Given the description of an element on the screen output the (x, y) to click on. 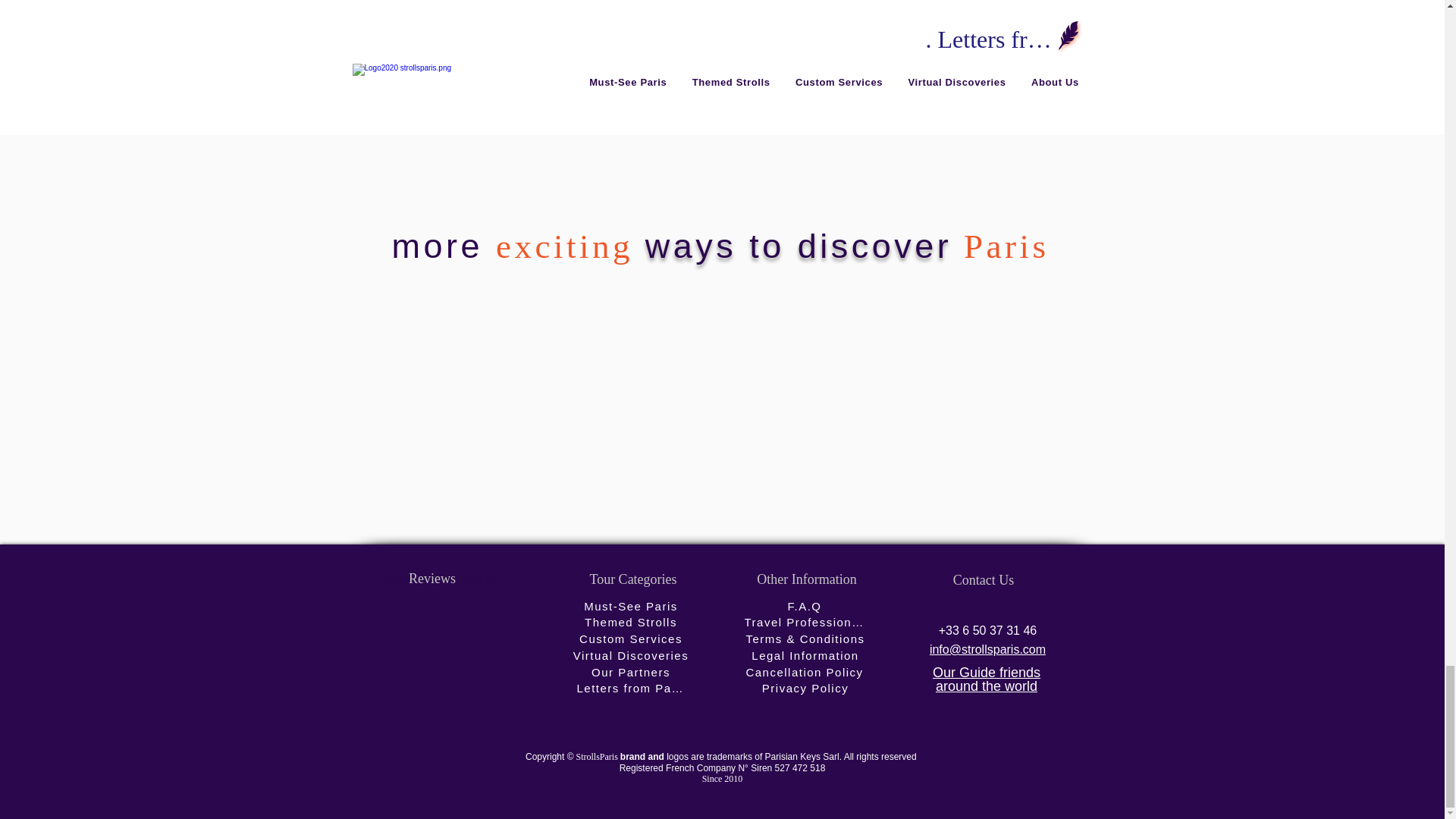
Privacy Policy (806, 688)
Themed Strolls (632, 622)
Our Partners (632, 672)
Virtual Discoveries (632, 655)
Custom Services (632, 639)
Cancellation Policy (804, 672)
Must-See Paris (632, 606)
F.A.Q (804, 606)
Legal Information (806, 655)
Letters from Paris (631, 688)
